Given the description of an element on the screen output the (x, y) to click on. 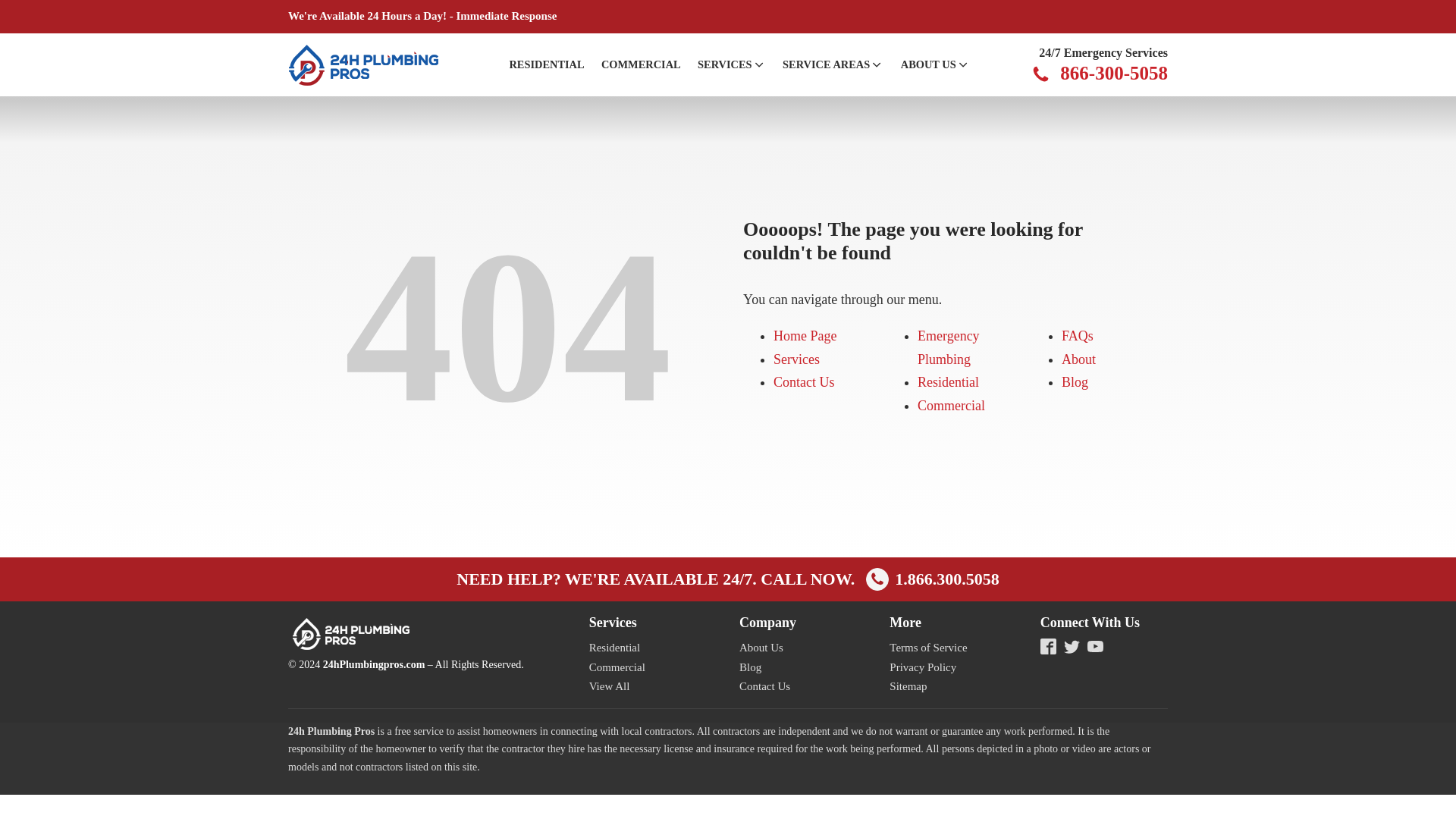
866-300-5058 (1113, 74)
ABOUT US (935, 65)
Services (796, 359)
Home Page (804, 335)
COMMERCIAL (640, 65)
RESIDENTIAL (546, 65)
Emergency Plumbing (948, 347)
SERVICE AREAS (833, 65)
SERVICES (731, 65)
Contact Us (803, 381)
